Given the description of an element on the screen output the (x, y) to click on. 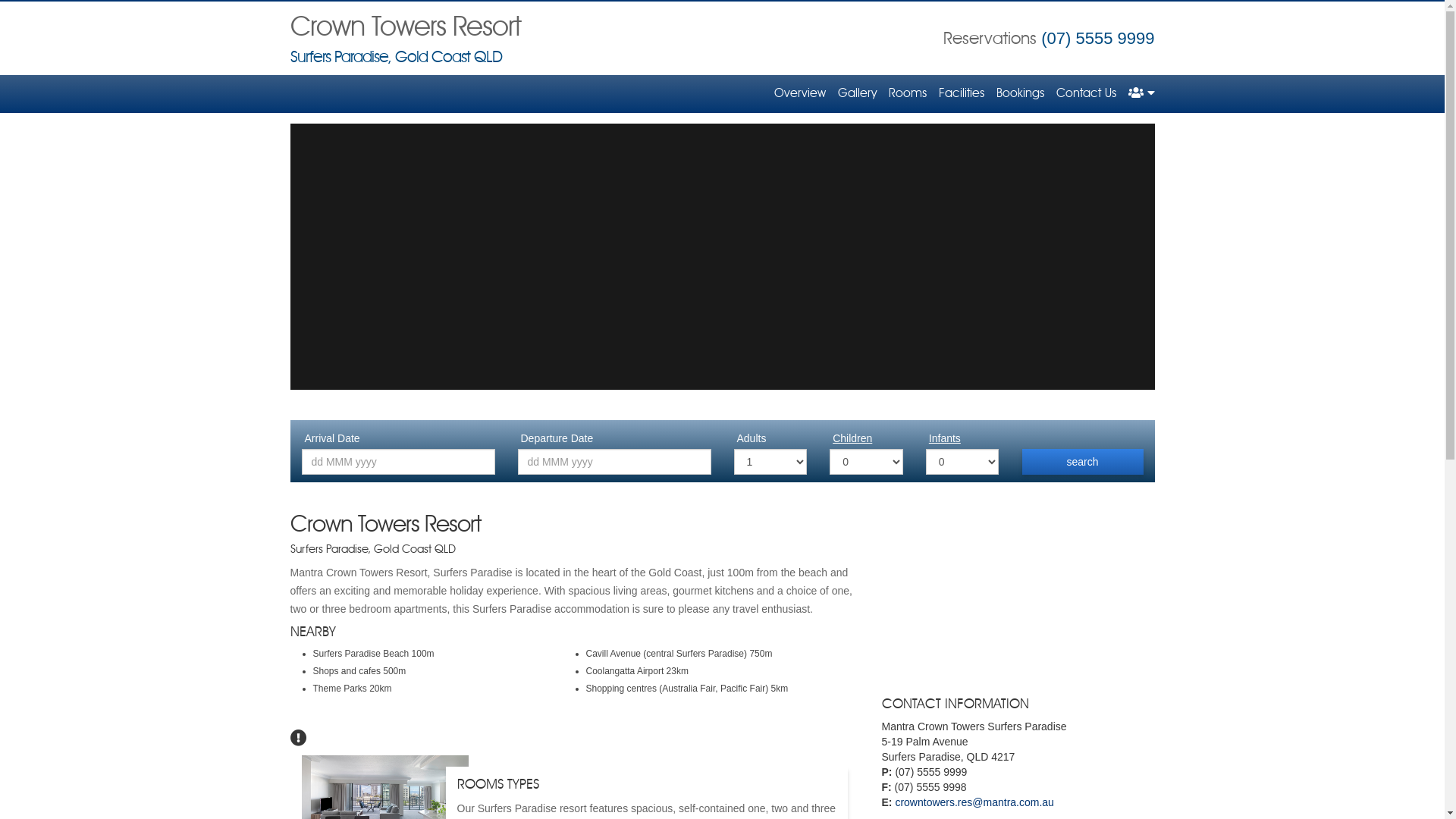
search Element type: text (1082, 461)
crowntowers.res@mantra.com.au Element type: text (974, 802)
Overview Element type: text (799, 93)
(07) 5555 9999 Element type: text (1097, 37)
Contact Us Element type: text (1085, 93)
Gallery Element type: text (856, 93)
Crown Towers Resort
Surfers Paradise, Gold Coast QLD Element type: text (404, 40)
Facilities Element type: text (961, 93)
Rooms Element type: text (907, 93)
Bookings Element type: text (1020, 93)
